Given the description of an element on the screen output the (x, y) to click on. 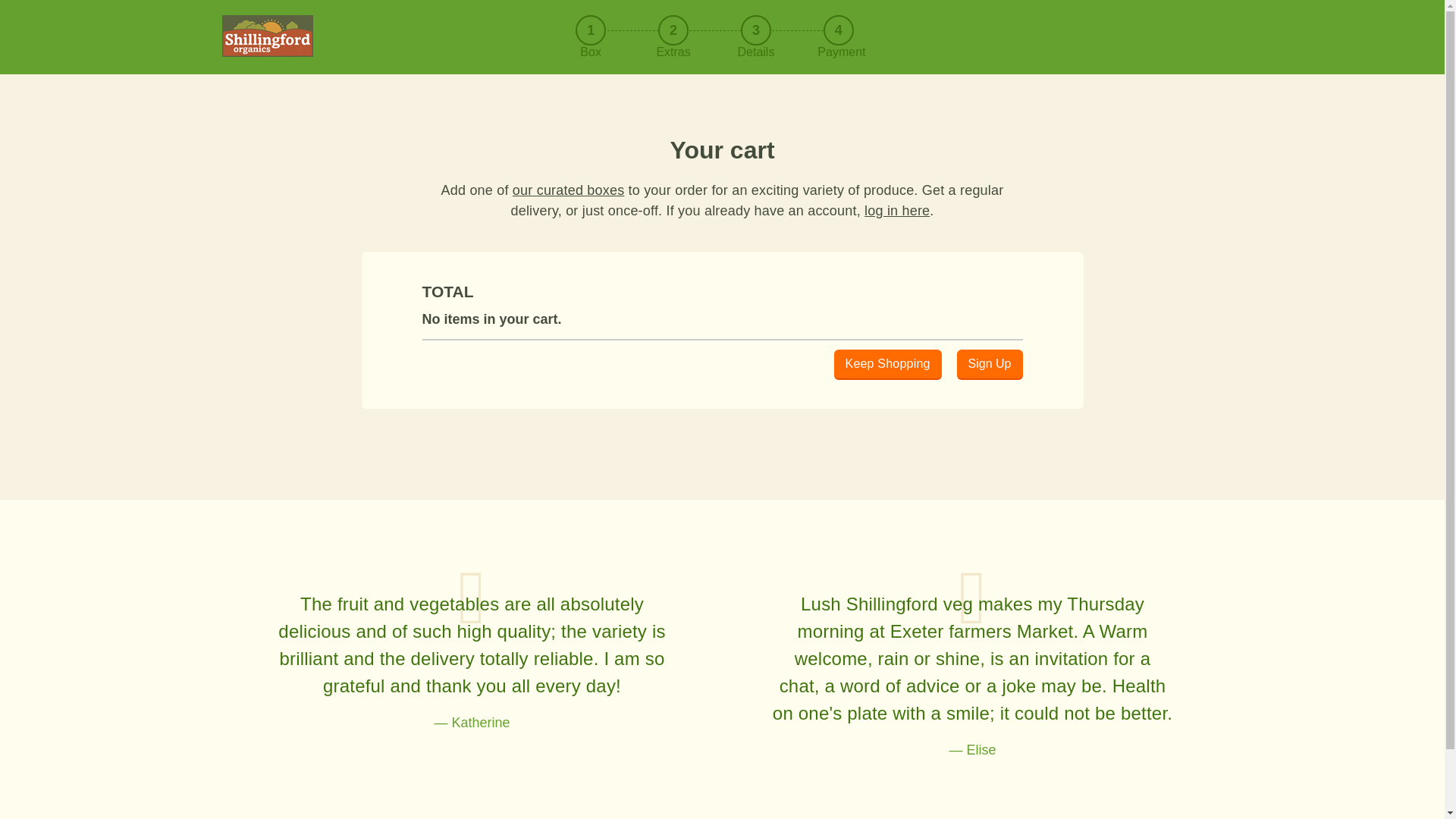
Keep Shopping (888, 363)
our curated boxes (568, 190)
log in here (897, 210)
Sign Up (989, 363)
